Given the description of an element on the screen output the (x, y) to click on. 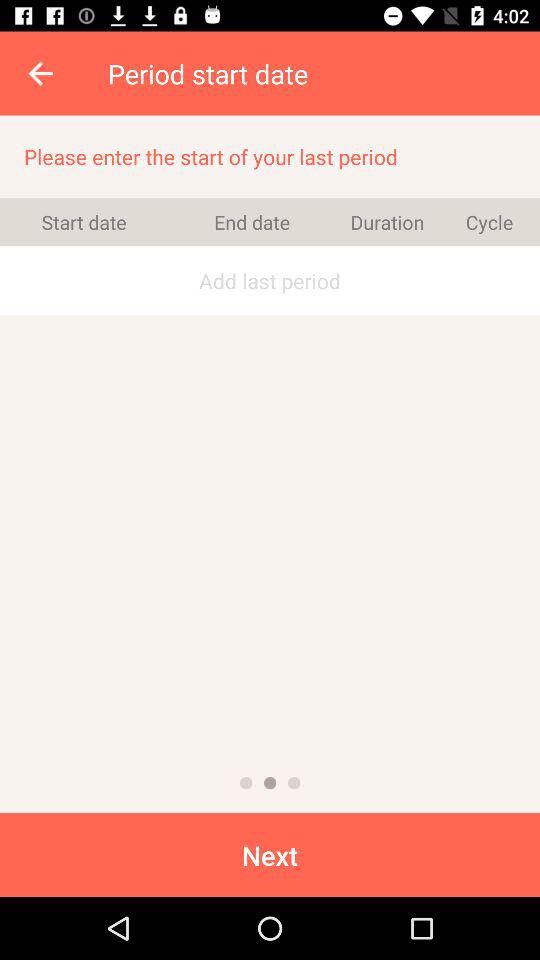
select next (270, 854)
